Given the description of an element on the screen output the (x, y) to click on. 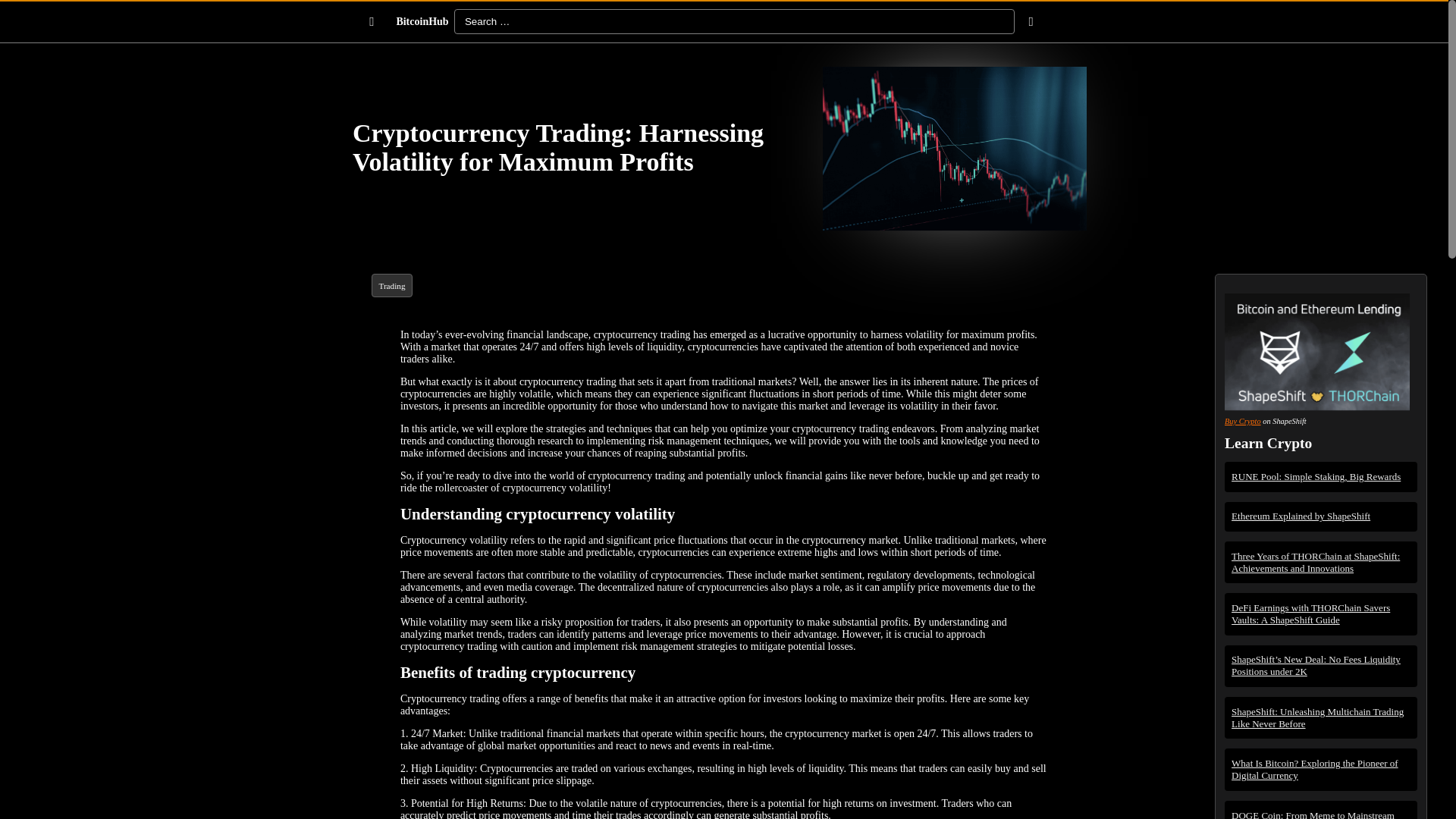
Trading (391, 285)
Buy Crypto (1242, 420)
Ethereum Explained by ShapeShift (1321, 516)
What Is Bitcoin? Exploring the Pioneer of Digital Currency (1321, 769)
Search (21, 7)
BitcoinHub (422, 21)
RUNE Pool: Simple Staking, Big Rewards (1321, 476)
DOGE Coin: From Meme to Mainstream (1321, 813)
